Given the description of an element on the screen output the (x, y) to click on. 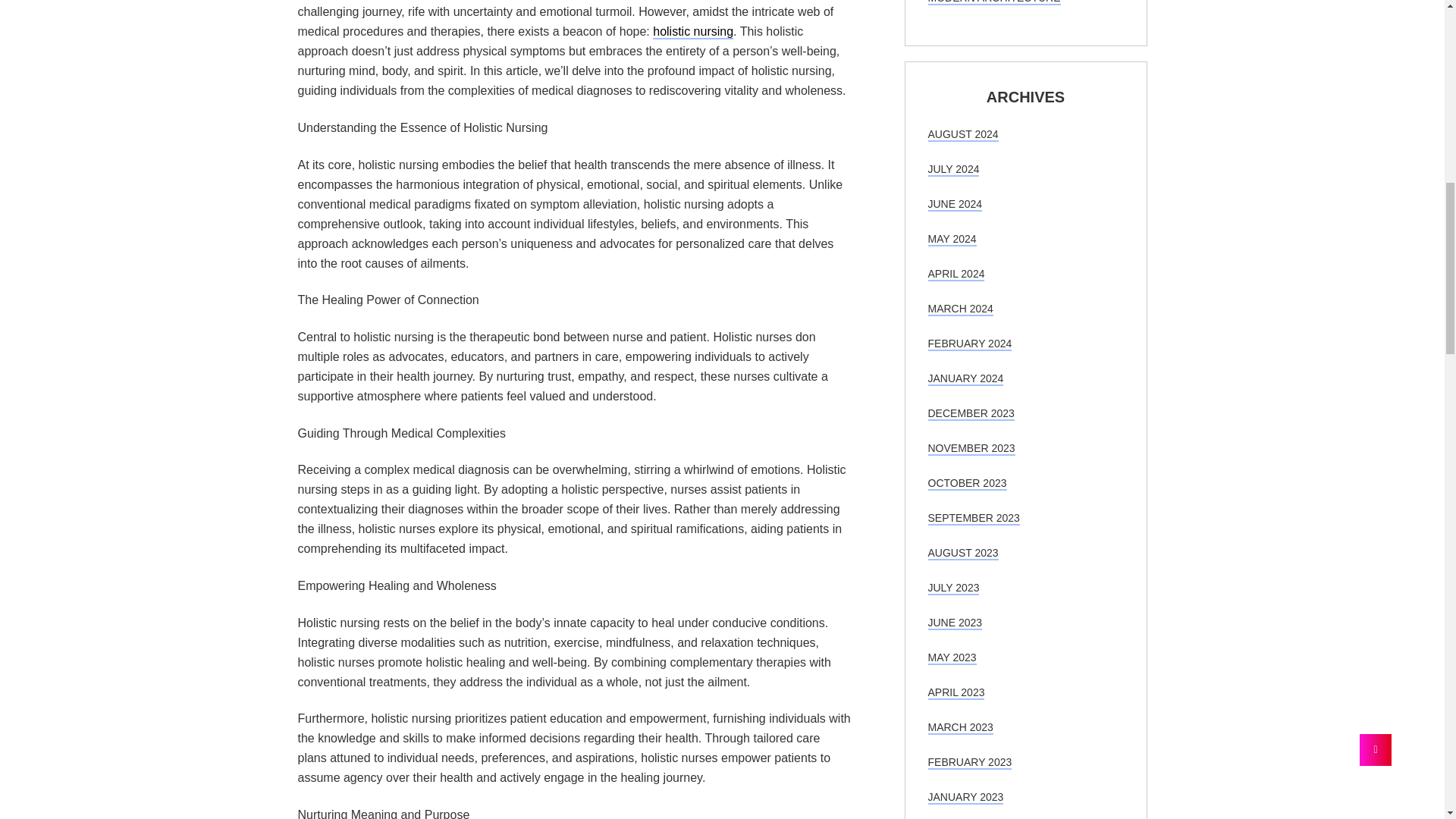
DECEMBER 2023 (971, 413)
AUGUST 2024 (963, 134)
JANUARY 2024 (966, 378)
FEBRUARY 2024 (969, 344)
MARCH 2024 (960, 309)
MAY 2024 (952, 239)
JUNE 2024 (955, 204)
APRIL 2024 (956, 274)
THE ROLE OF TECHNOLOGY IN MODERN ARCHITECTURE (1008, 2)
JULY 2024 (953, 169)
